Given the description of an element on the screen output the (x, y) to click on. 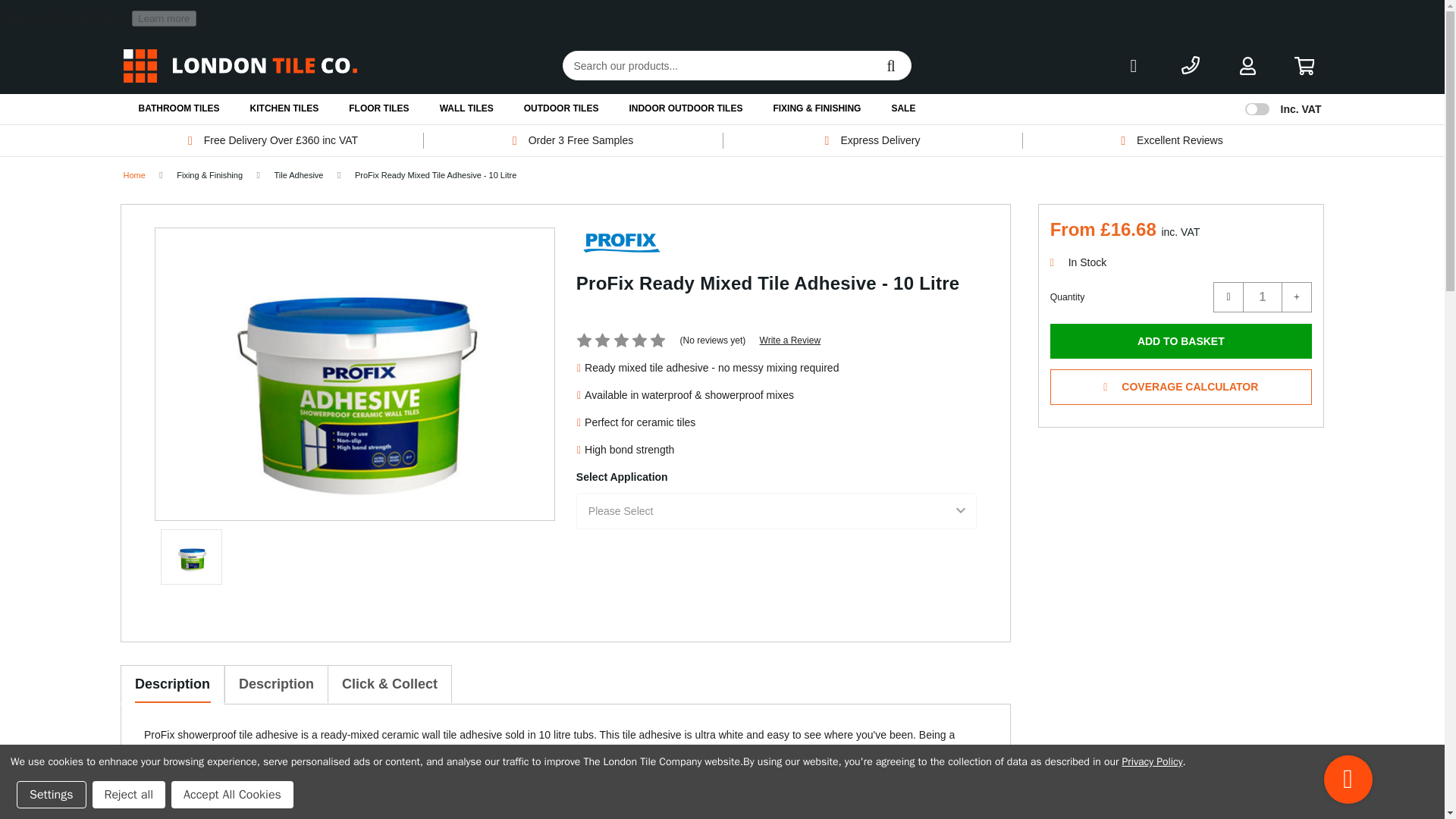
Add to Basket (1180, 340)
London Tile Co (239, 64)
1 (1262, 296)
